Given the description of an element on the screen output the (x, y) to click on. 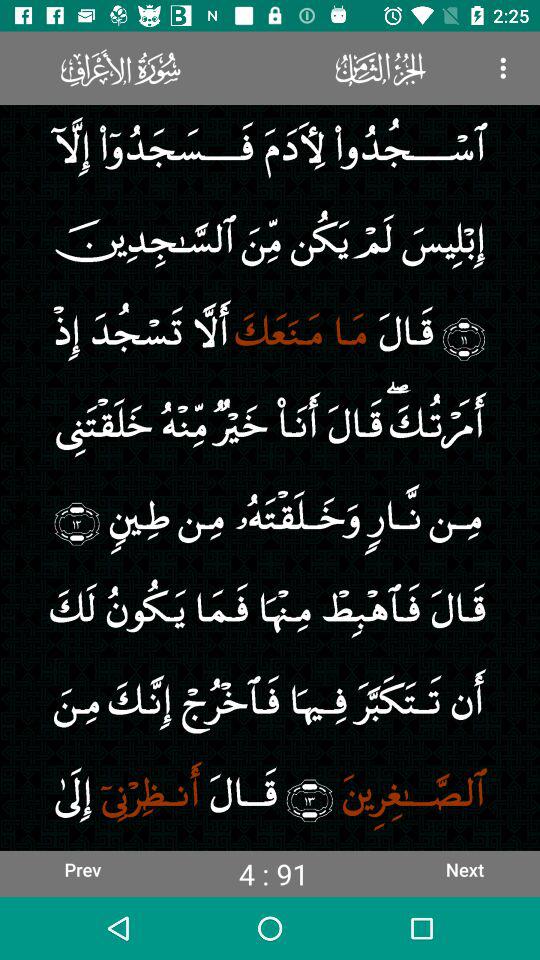
choose the item next to the 4 : 91 (82, 869)
